Given the description of an element on the screen output the (x, y) to click on. 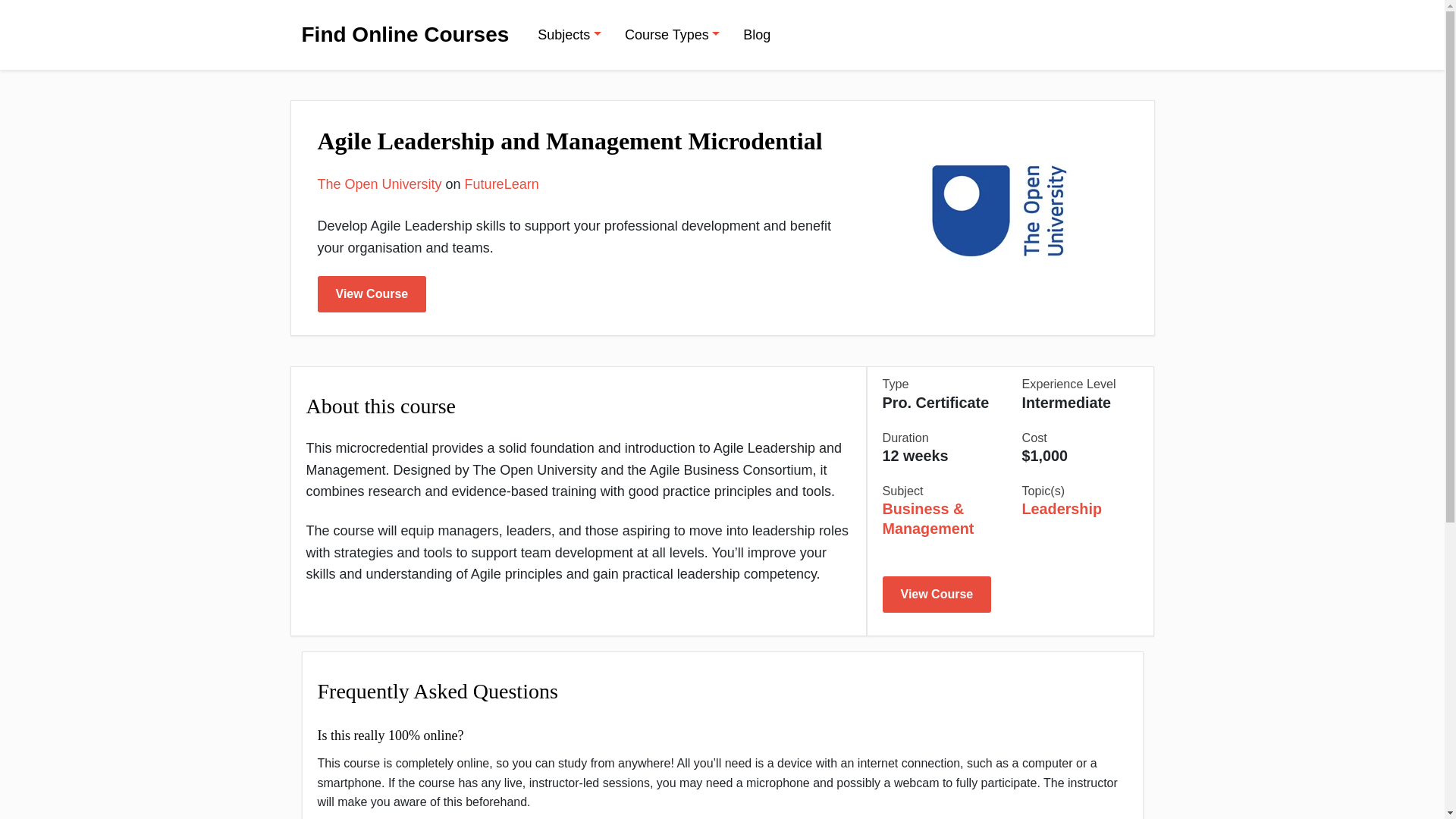
FutureLearn (501, 183)
View Course (371, 294)
The Open University (379, 183)
Subjects (569, 34)
Leadership (1062, 508)
Course Types (671, 34)
View Course (936, 594)
The Open University Courses (379, 183)
Find Online Courses (405, 34)
Blog (756, 34)
Leadership (1062, 508)
FutureLearn Courses (501, 183)
